Given the description of an element on the screen output the (x, y) to click on. 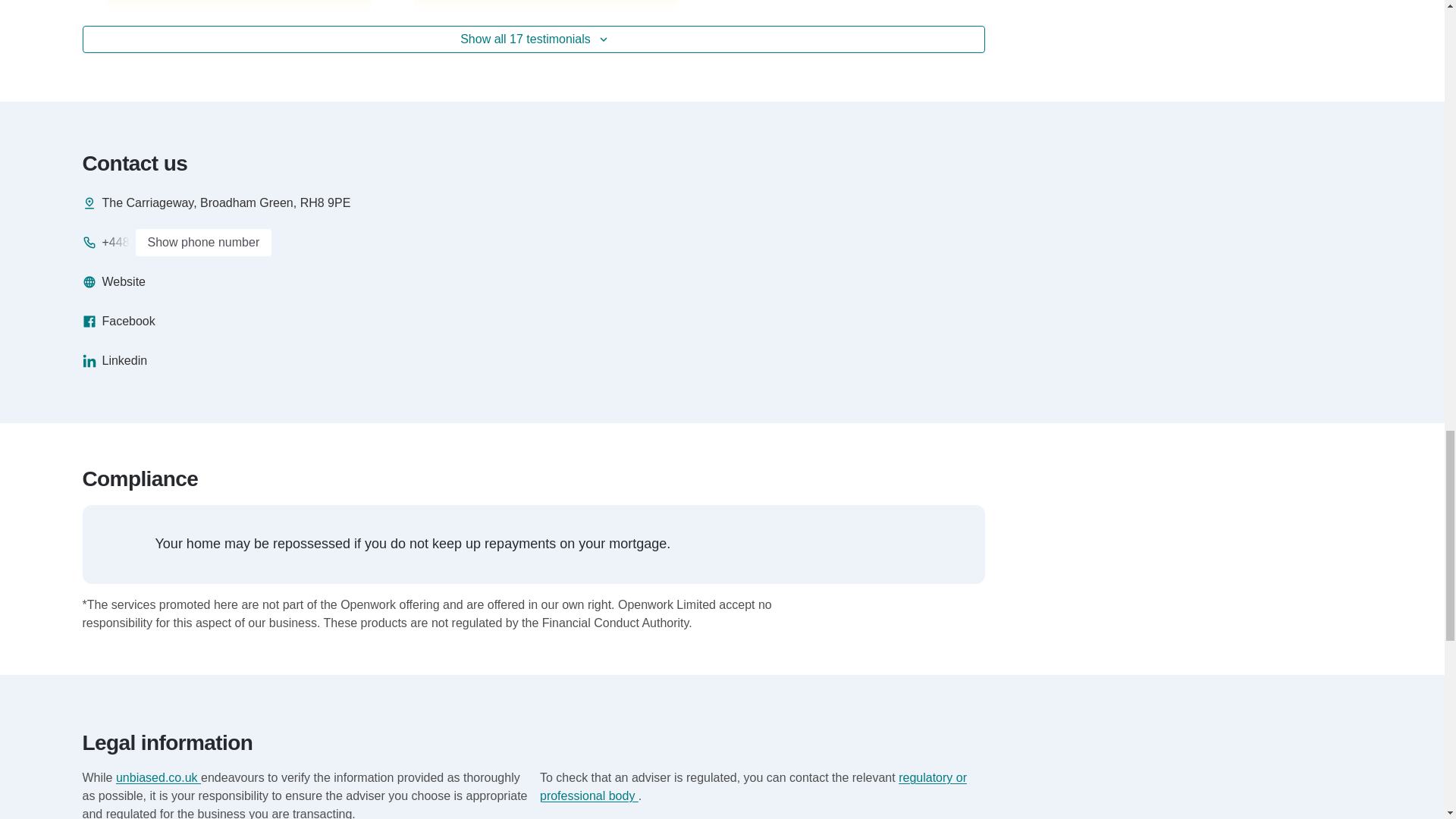
Linkedin (114, 361)
Website (113, 281)
Facebook (117, 321)
The Carriageway, Broadham Green, RH8 9PE (215, 203)
unbiased.co.uk (158, 777)
regulatory or professional body (753, 786)
Show phone number (203, 242)
Show all 17 testimonials (533, 39)
